Given the description of an element on the screen output the (x, y) to click on. 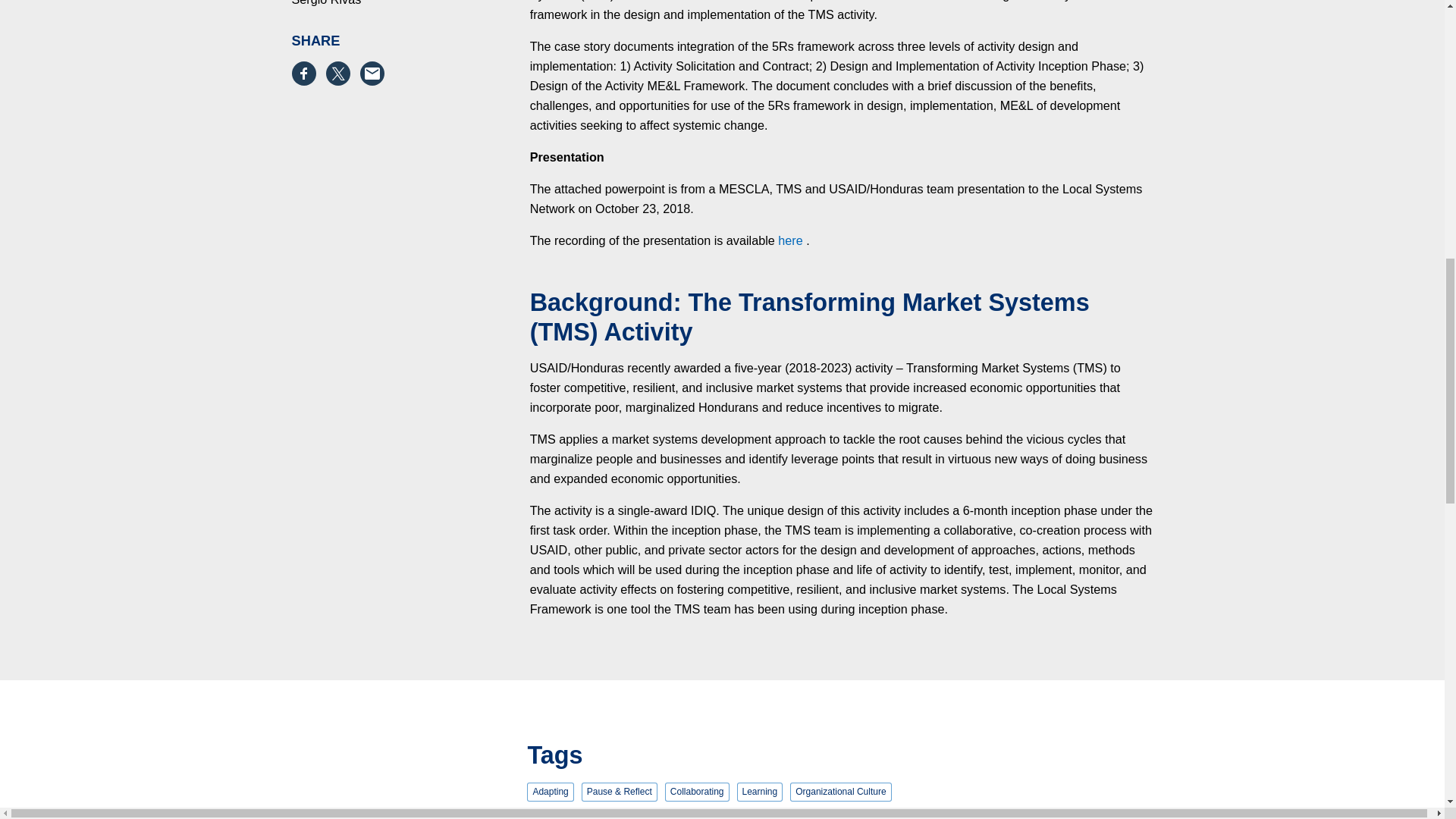
Organizational Culture (840, 791)
here (789, 240)
Adapting (550, 791)
Collaborating (697, 791)
Share this page on Twitter (342, 73)
Learning (759, 791)
Share this page through email. (376, 73)
Share this page on Facebook (307, 73)
